Given the description of an element on the screen output the (x, y) to click on. 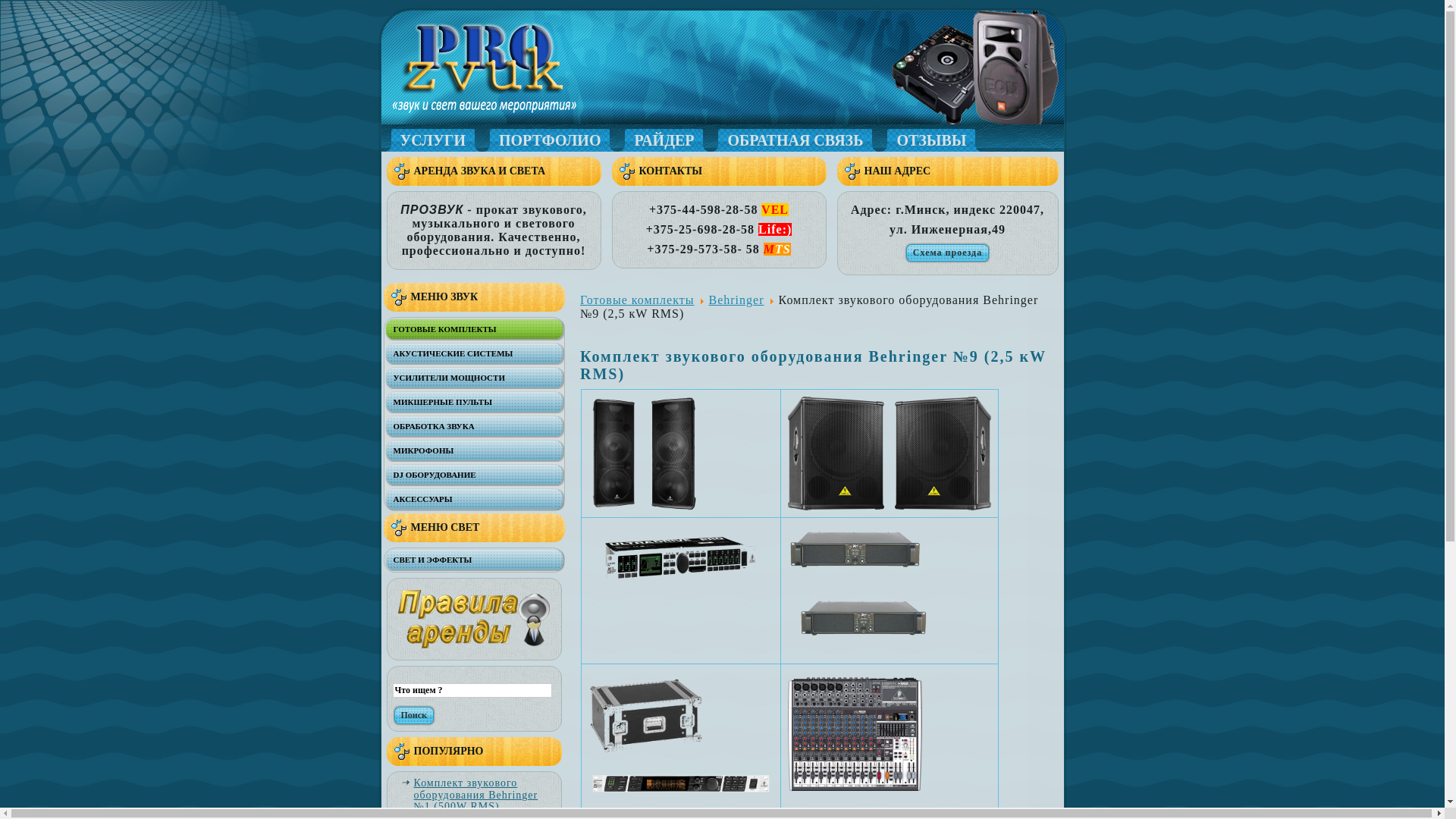
Behringer Element type: text (736, 299)
